Given the description of an element on the screen output the (x, y) to click on. 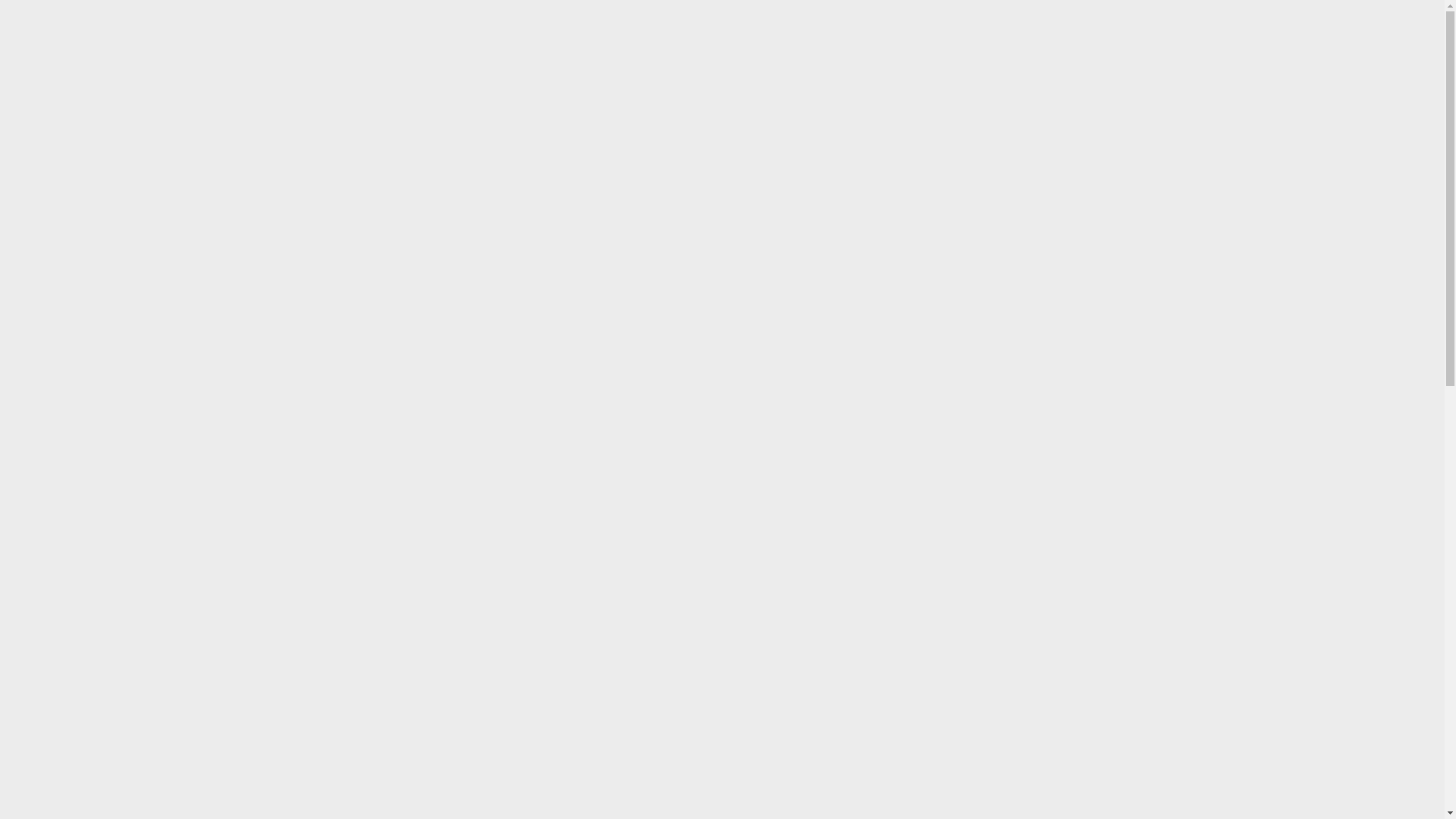
Art Element type: text (893, 95)
About Element type: text (960, 95)
Email Element type: text (1091, 29)
FAQ Element type: text (1032, 95)
Framing Element type: text (721, 95)
Services Element type: text (818, 95)
Contact Element type: text (1112, 95)
Reviews Element type: text (500, 30)
Art. Framing Art Element type: text (376, 95)
